Given the description of an element on the screen output the (x, y) to click on. 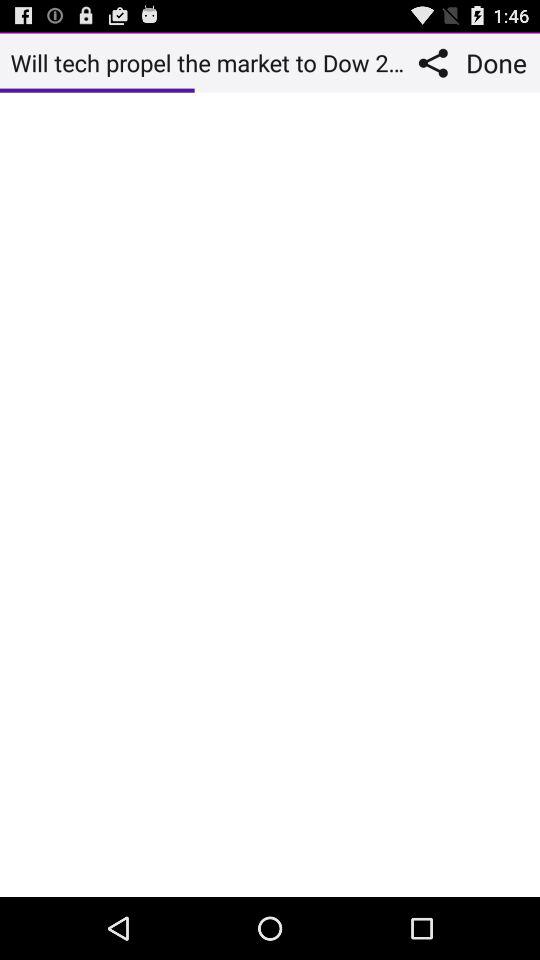
launch the item next to will tech propel (438, 62)
